Given the description of an element on the screen output the (x, y) to click on. 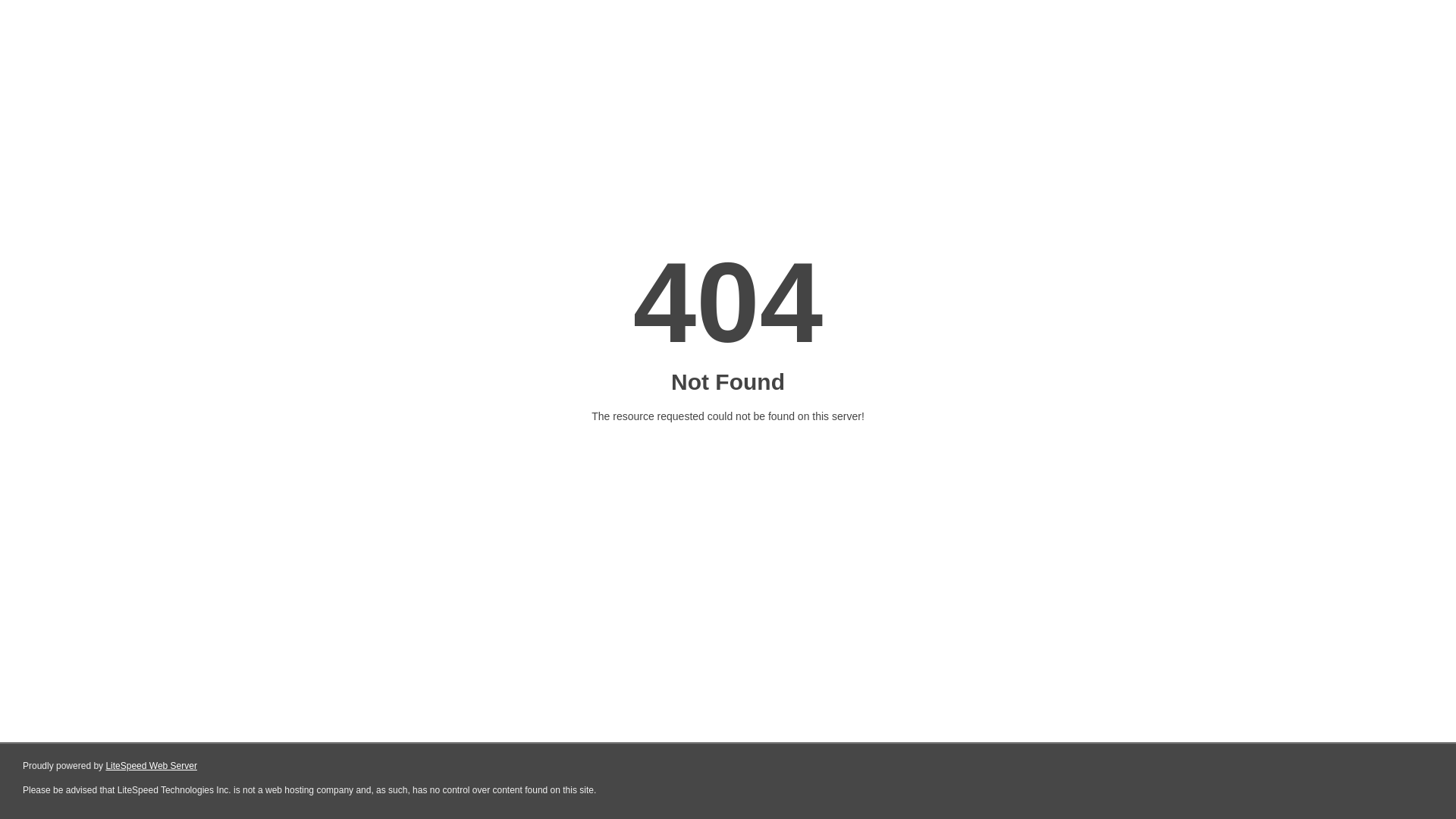
LiteSpeed Web Server Element type: text (151, 765)
